Given the description of an element on the screen output the (x, y) to click on. 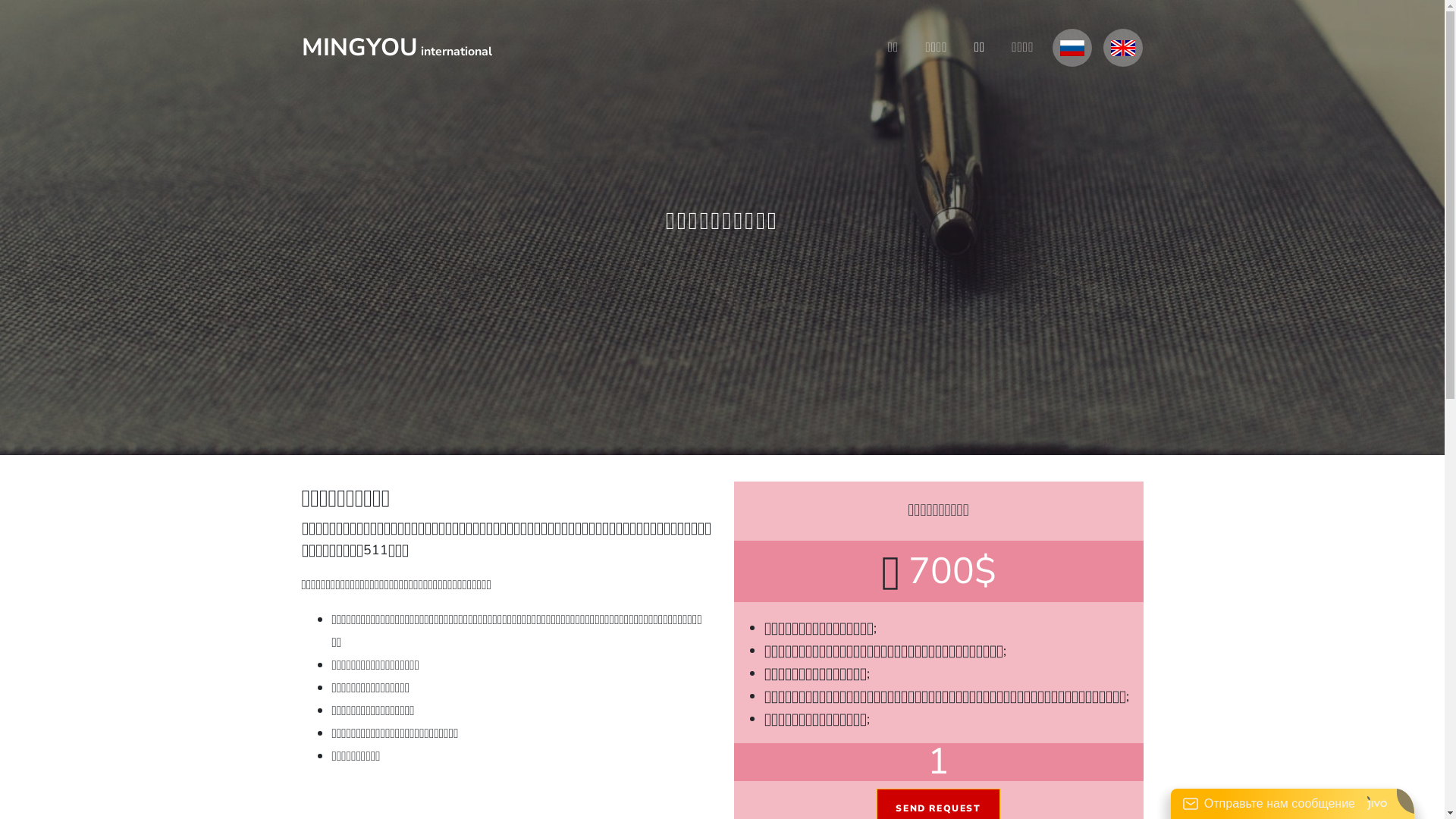
MINGYOU international Element type: text (396, 46)
Translate to English Element type: hover (1122, 48)
